Given the description of an element on the screen output the (x, y) to click on. 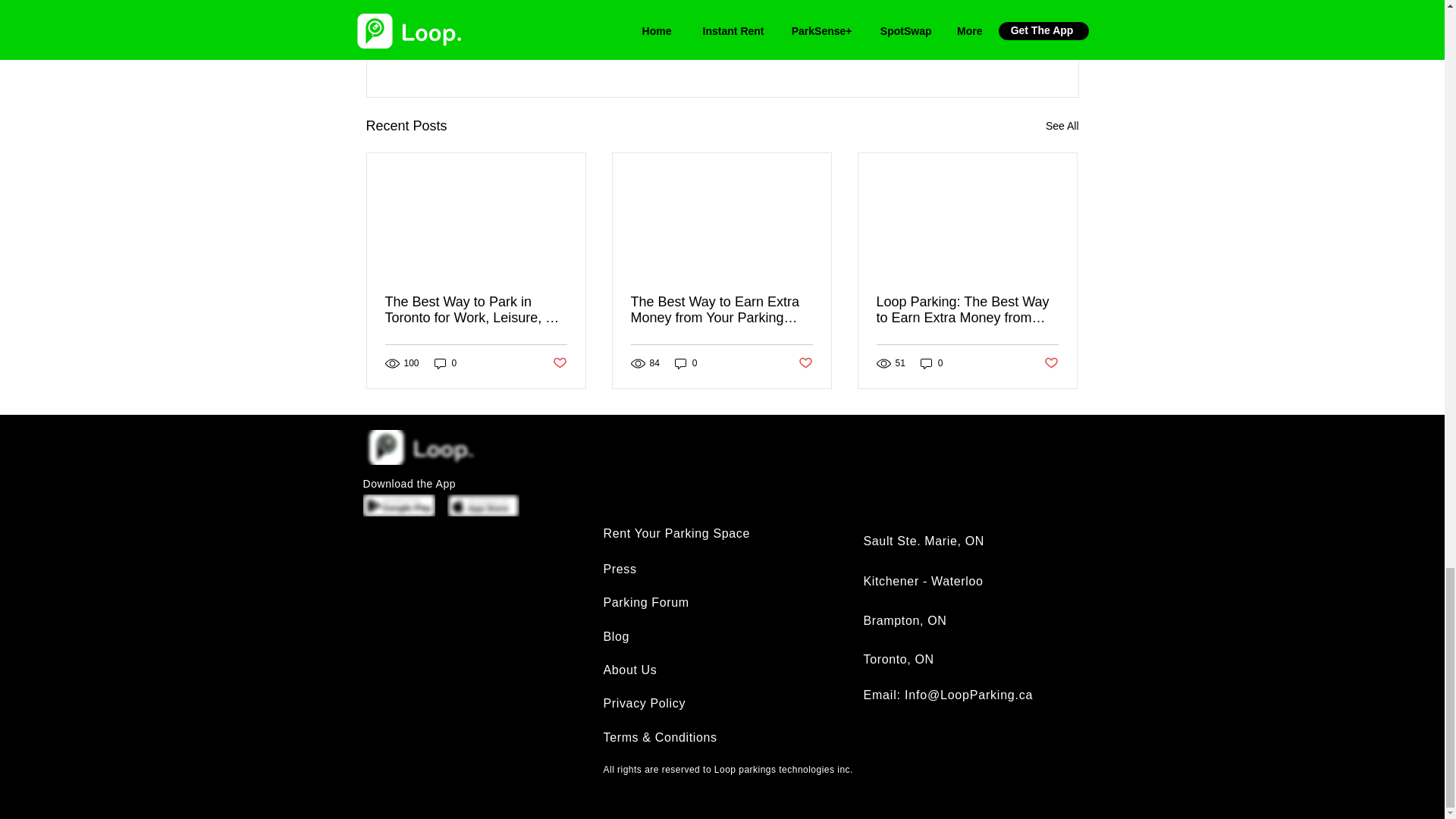
0 (445, 363)
Post not marked as liked (995, 43)
0 (931, 363)
See All (1061, 126)
Post not marked as liked (804, 363)
Post not marked as liked (1050, 363)
The Best Way to Earn Extra Money from Your Parking Spot (721, 309)
Post not marked as liked (558, 363)
0 (685, 363)
Download the App (408, 483)
